Given the description of an element on the screen output the (x, y) to click on. 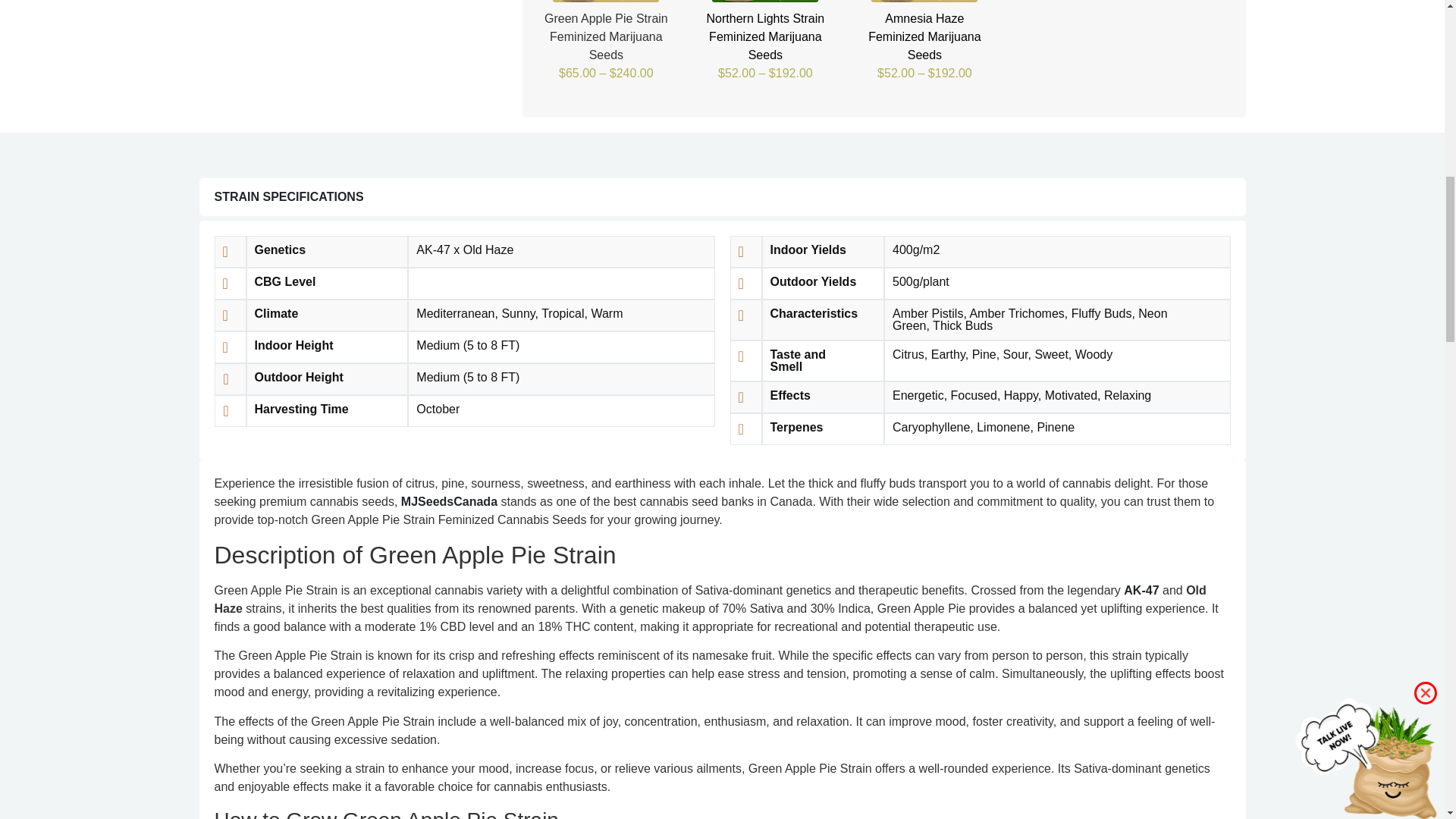
Green Apple Pie Strain Feminized Marijuana Seeds (606, 1)
Amnesia Haze Feminized Marijuana Seeds (923, 1)
Northern Lights Strain Feminized Marijuana Seeds (764, 1)
